Given the description of an element on the screen output the (x, y) to click on. 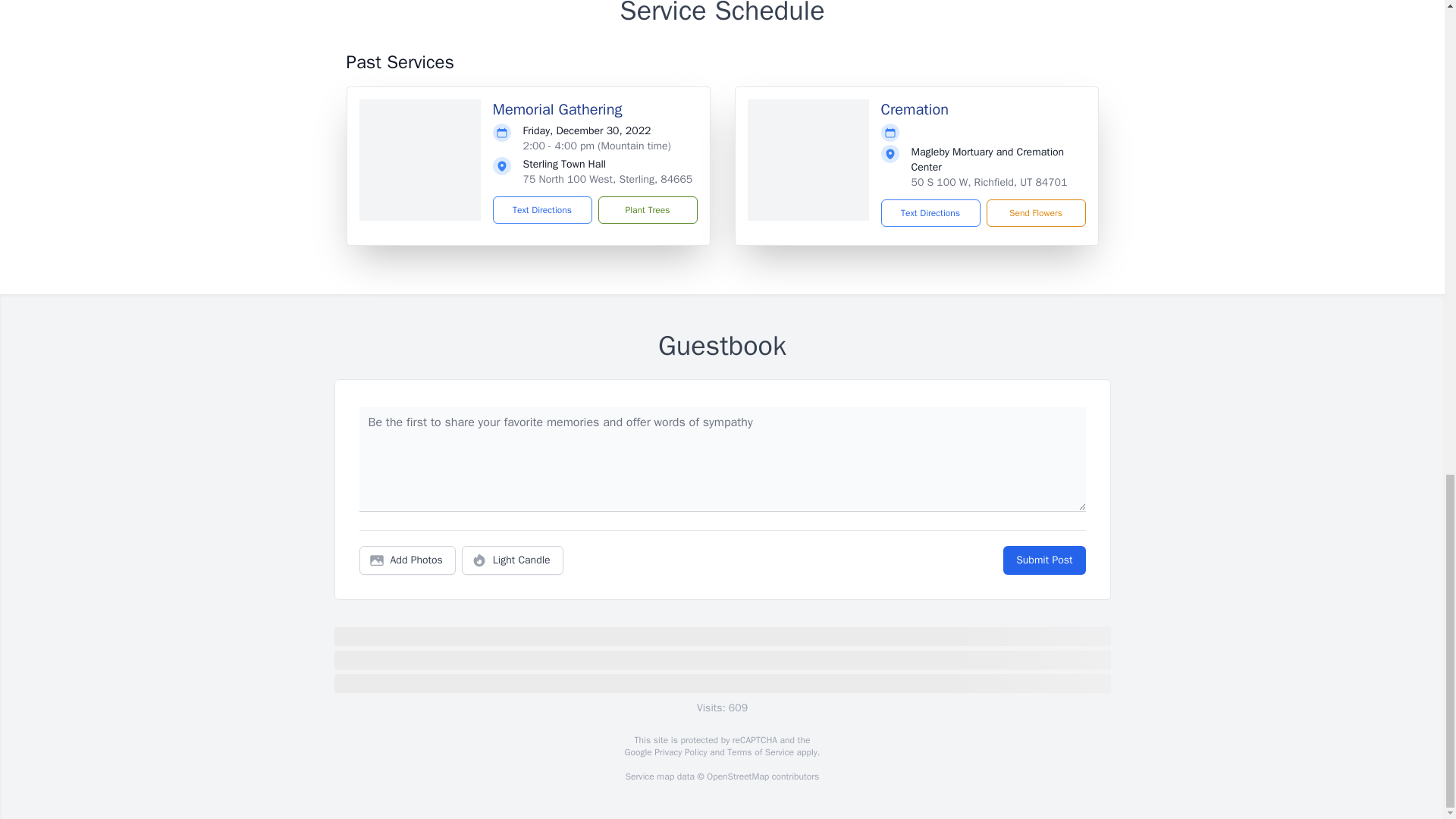
Text Directions (929, 212)
Privacy Policy (679, 752)
Light Candle (512, 560)
Send Flowers (1034, 212)
50 S 100 W, Richfield, UT 84701 (989, 182)
Add Photos (407, 560)
Terms of Service (759, 752)
OpenStreetMap (737, 776)
Plant Trees (646, 209)
Text Directions (542, 209)
